Given the description of an element on the screen output the (x, y) to click on. 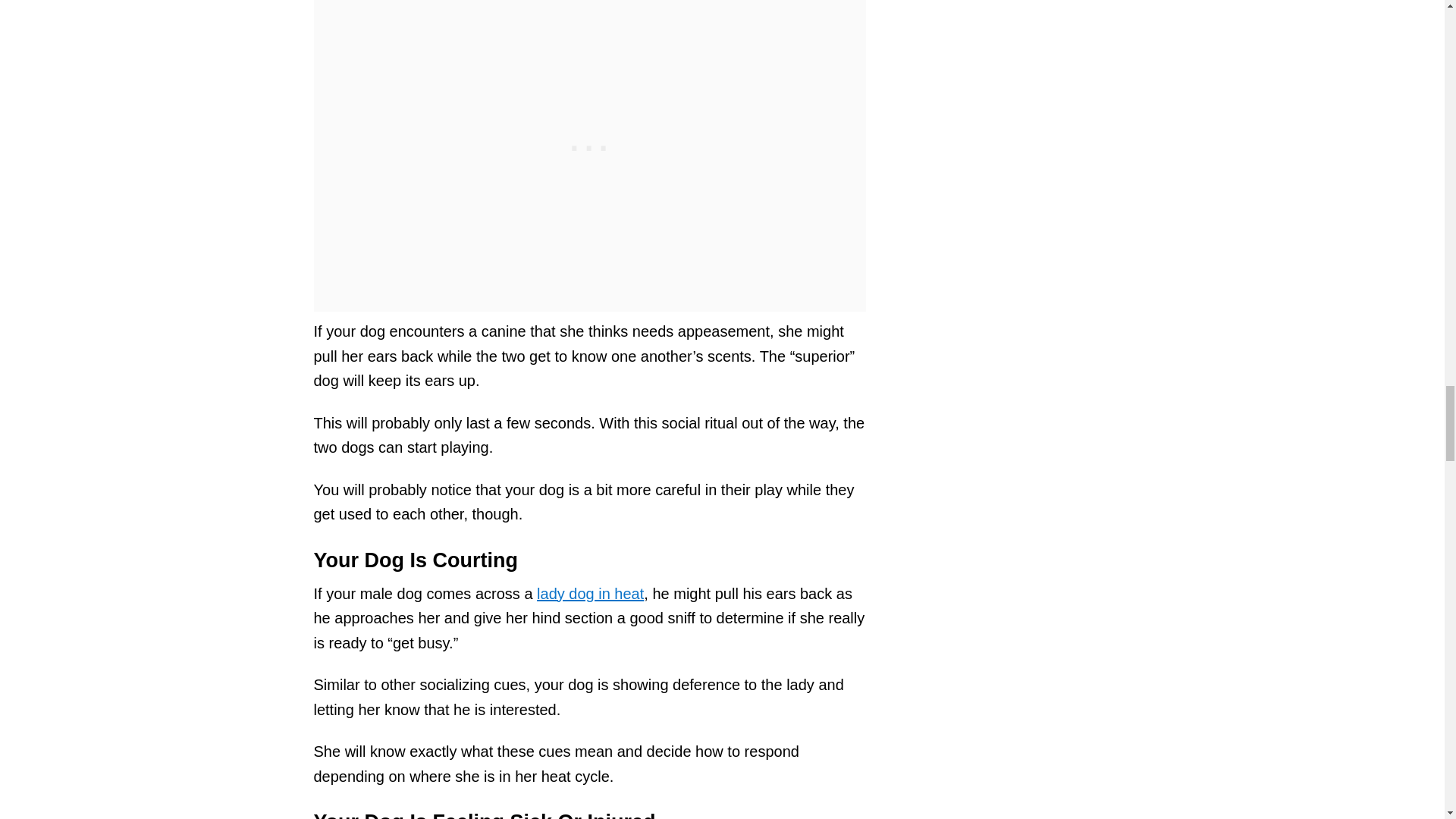
lady dog in heat (590, 593)
